Given the description of an element on the screen output the (x, y) to click on. 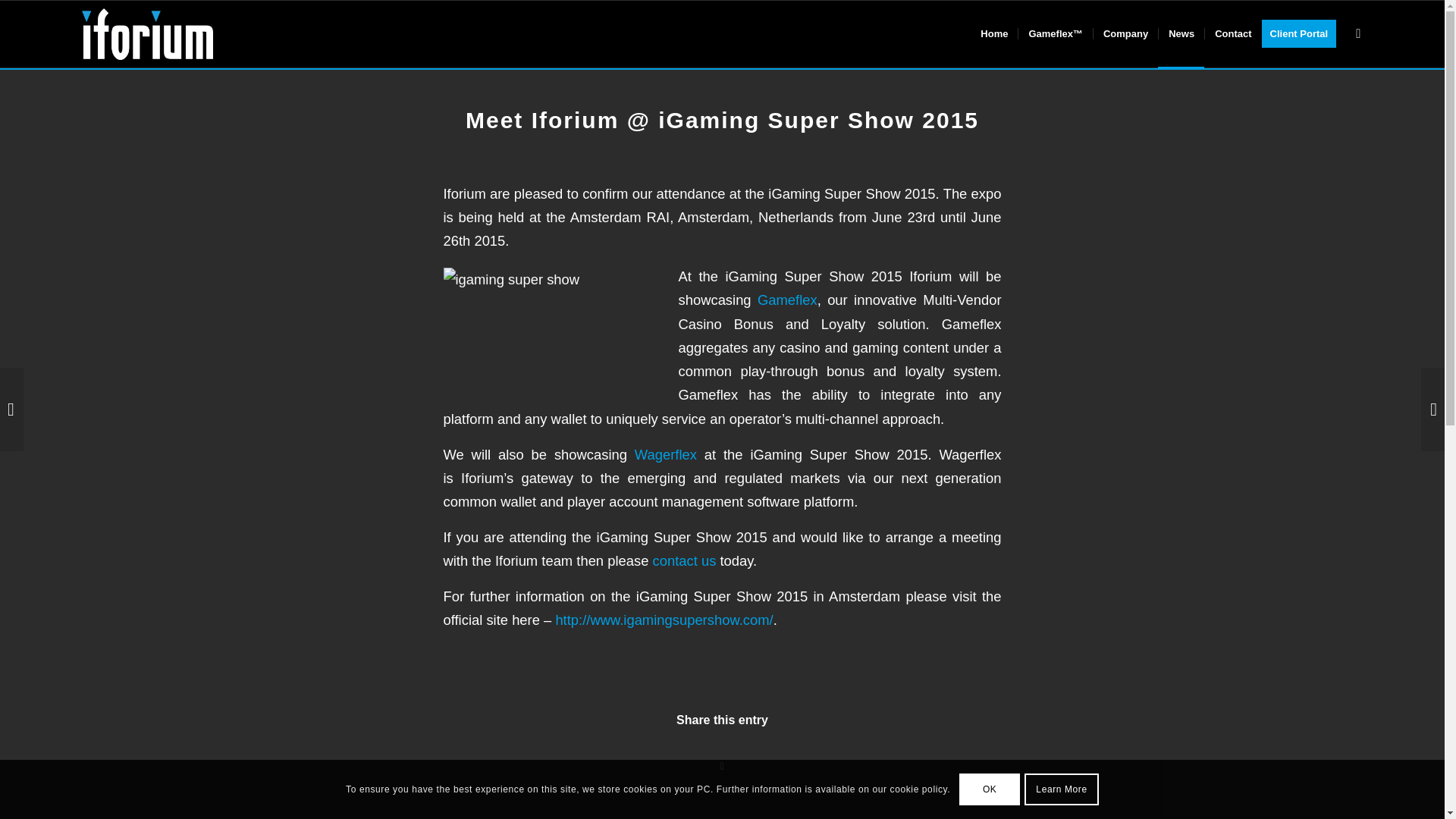
contact us (684, 560)
iGaming Super Show 2015 Amsterdam (555, 328)
Contact Iforium (684, 560)
Wagerflex (665, 454)
Gameflex (786, 299)
Client Portal (1304, 33)
Wagerflex (665, 454)
iGaming Super Show 2015 (663, 619)
Gameflex (786, 299)
Company (1125, 33)
